Given the description of an element on the screen output the (x, y) to click on. 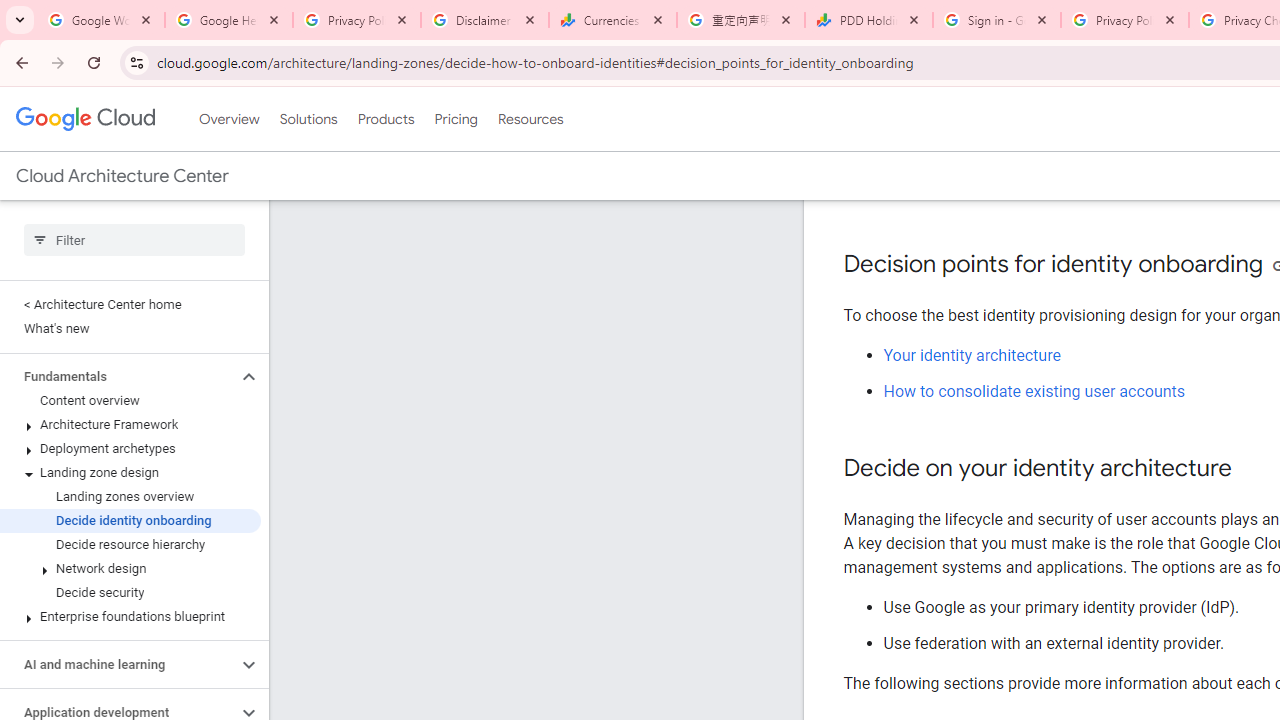
Deployment archetypes (130, 448)
Google Workspace Admin Community (101, 20)
Landing zone design (130, 472)
Pricing (455, 119)
Network design (130, 569)
Type to filter (134, 239)
Resources (530, 119)
Enterprise foundations blueprint (130, 616)
